Given the description of an element on the screen output the (x, y) to click on. 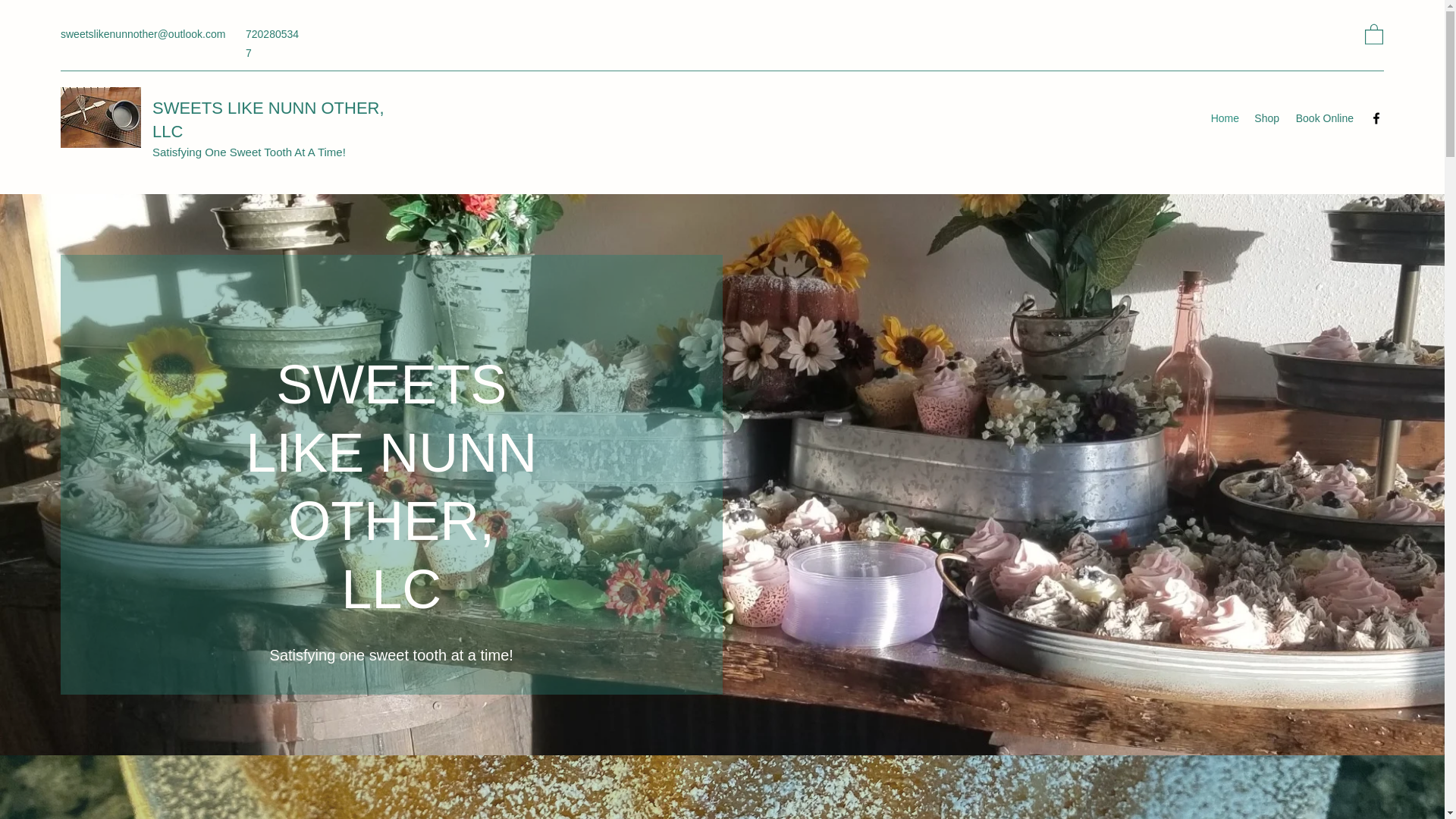
Book Online (1324, 118)
Shop (1266, 118)
Home (1224, 118)
SWEETS LIKE NUNN OTHER, LLC (268, 119)
